Given the description of an element on the screen output the (x, y) to click on. 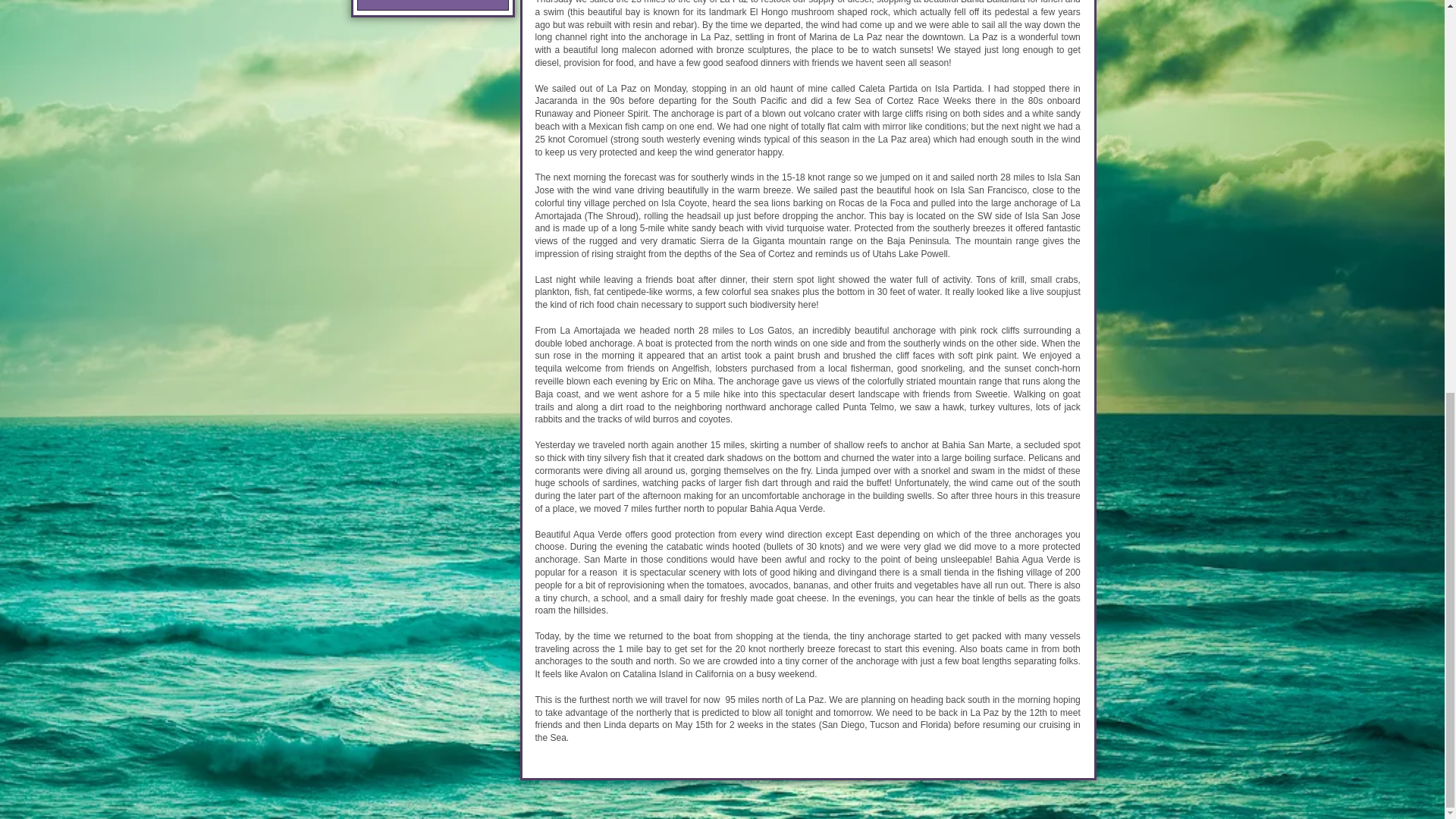
Contact Us (432, 5)
